Given the description of an element on the screen output the (x, y) to click on. 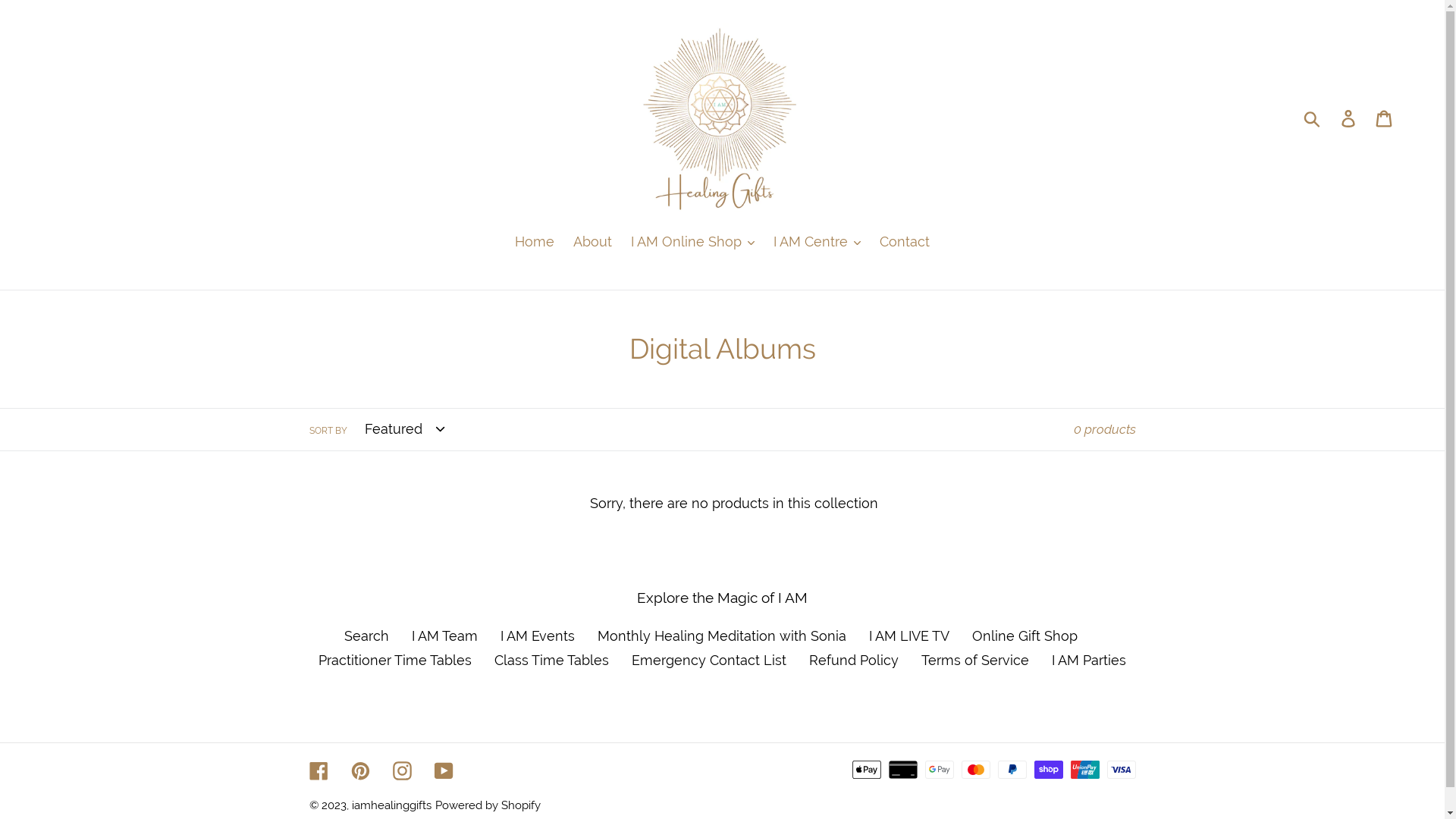
Facebook Element type: text (318, 769)
I AM LIVE TV Element type: text (909, 635)
I AM Events Element type: text (537, 635)
Class Time Tables Element type: text (551, 660)
Search Element type: text (366, 635)
Powered by Shopify Element type: text (487, 805)
Home Element type: text (534, 242)
Online Gift Shop Element type: text (1024, 635)
Contact Element type: text (904, 242)
Submit Element type: text (1312, 117)
I AM Parties Element type: text (1088, 660)
Practitioner Time Tables Element type: text (394, 660)
Pinterest Element type: text (359, 769)
Log in Element type: text (1349, 117)
Refund Policy Element type: text (853, 660)
Emergency Contact List Element type: text (708, 660)
Terms of Service Element type: text (975, 660)
I AM Team Element type: text (444, 635)
YouTube Element type: text (442, 769)
Instagram Element type: text (401, 769)
Cart Element type: text (1384, 117)
Monthly Healing Meditation with Sonia Element type: text (721, 635)
iamhealinggifts Element type: text (391, 805)
About Element type: text (592, 242)
